Given the description of an element on the screen output the (x, y) to click on. 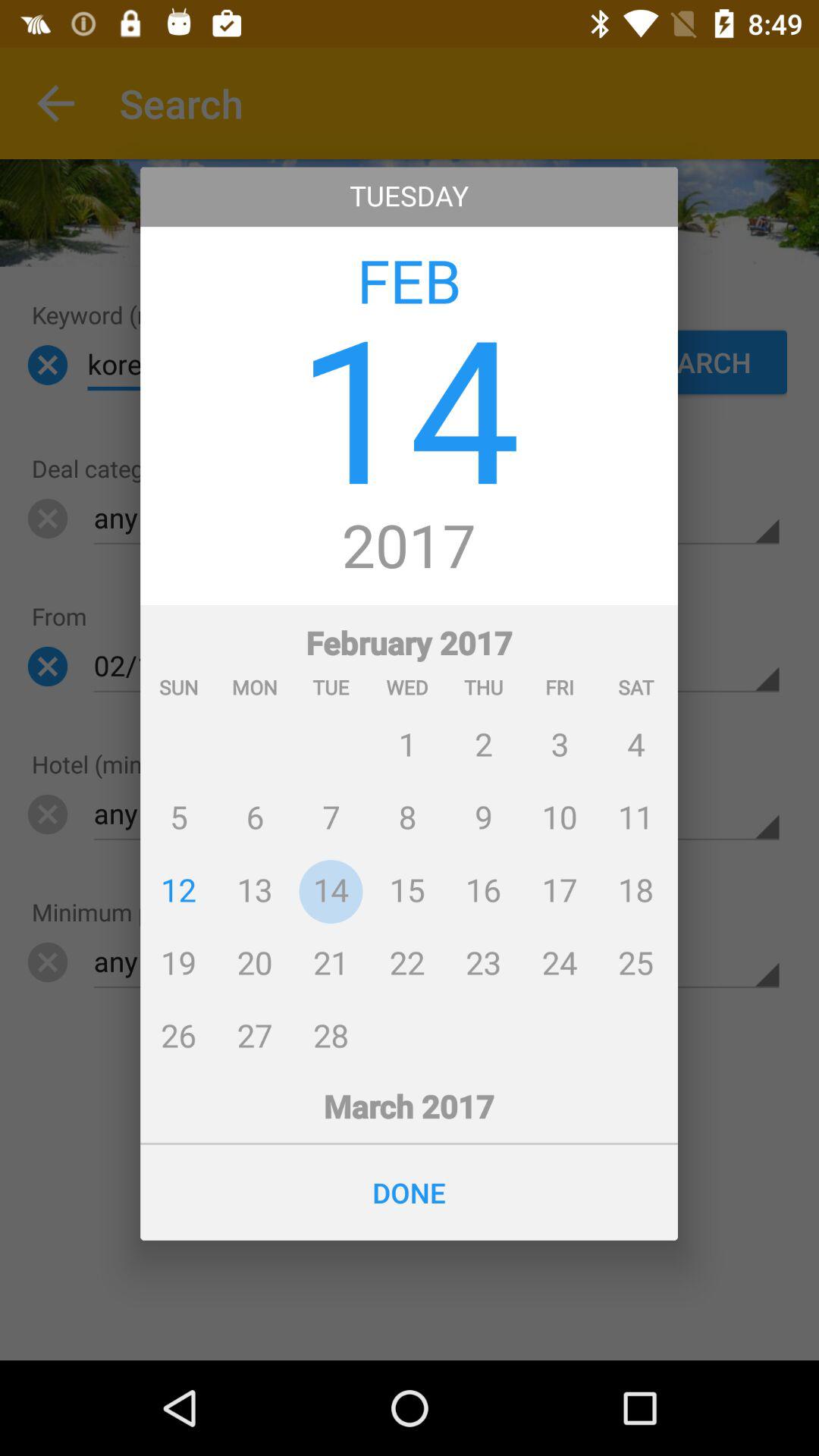
click icon below 2017 (408, 836)
